Given the description of an element on the screen output the (x, y) to click on. 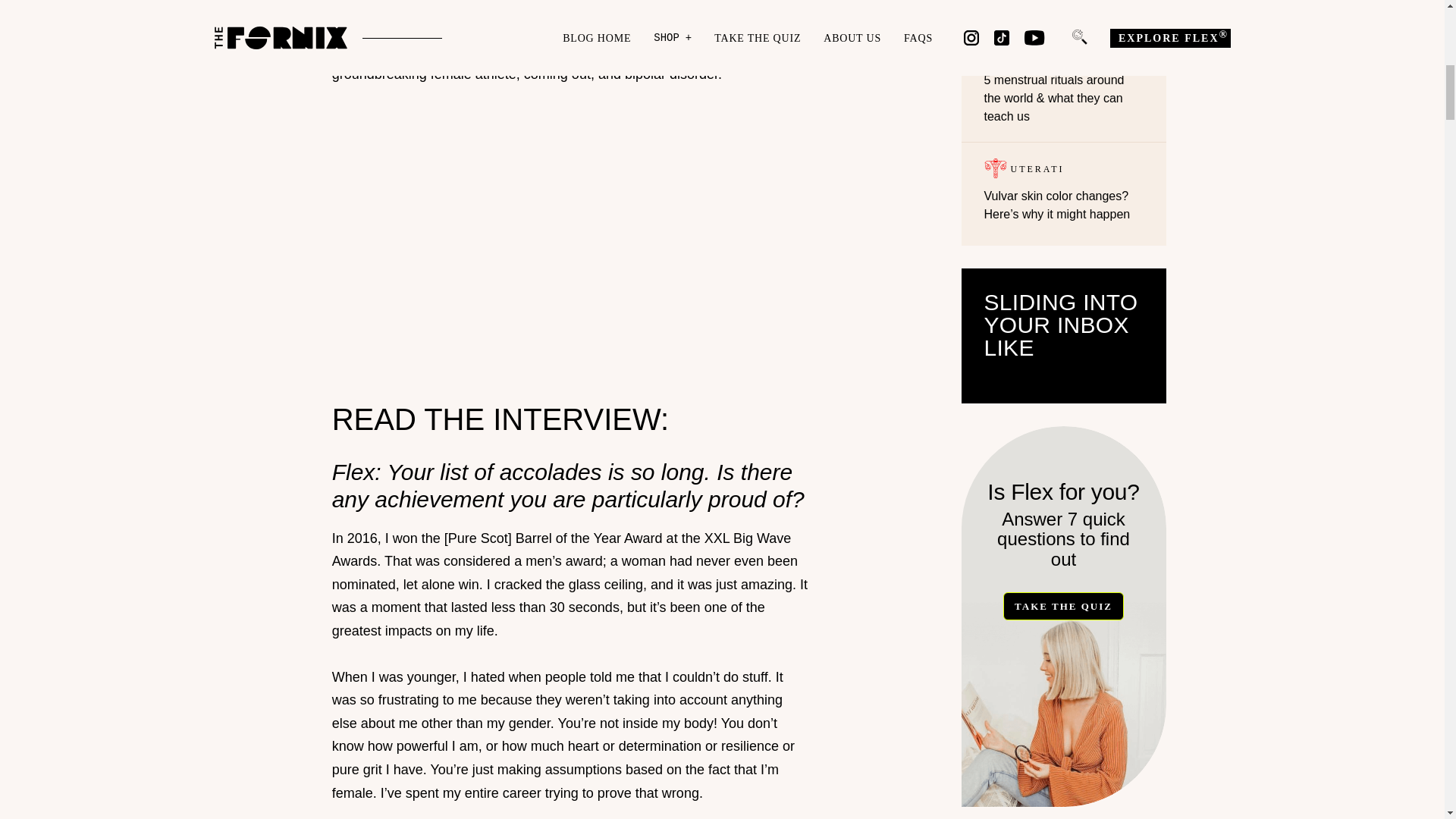
category-image (995, 51)
category-image (995, 168)
